Given the description of an element on the screen output the (x, y) to click on. 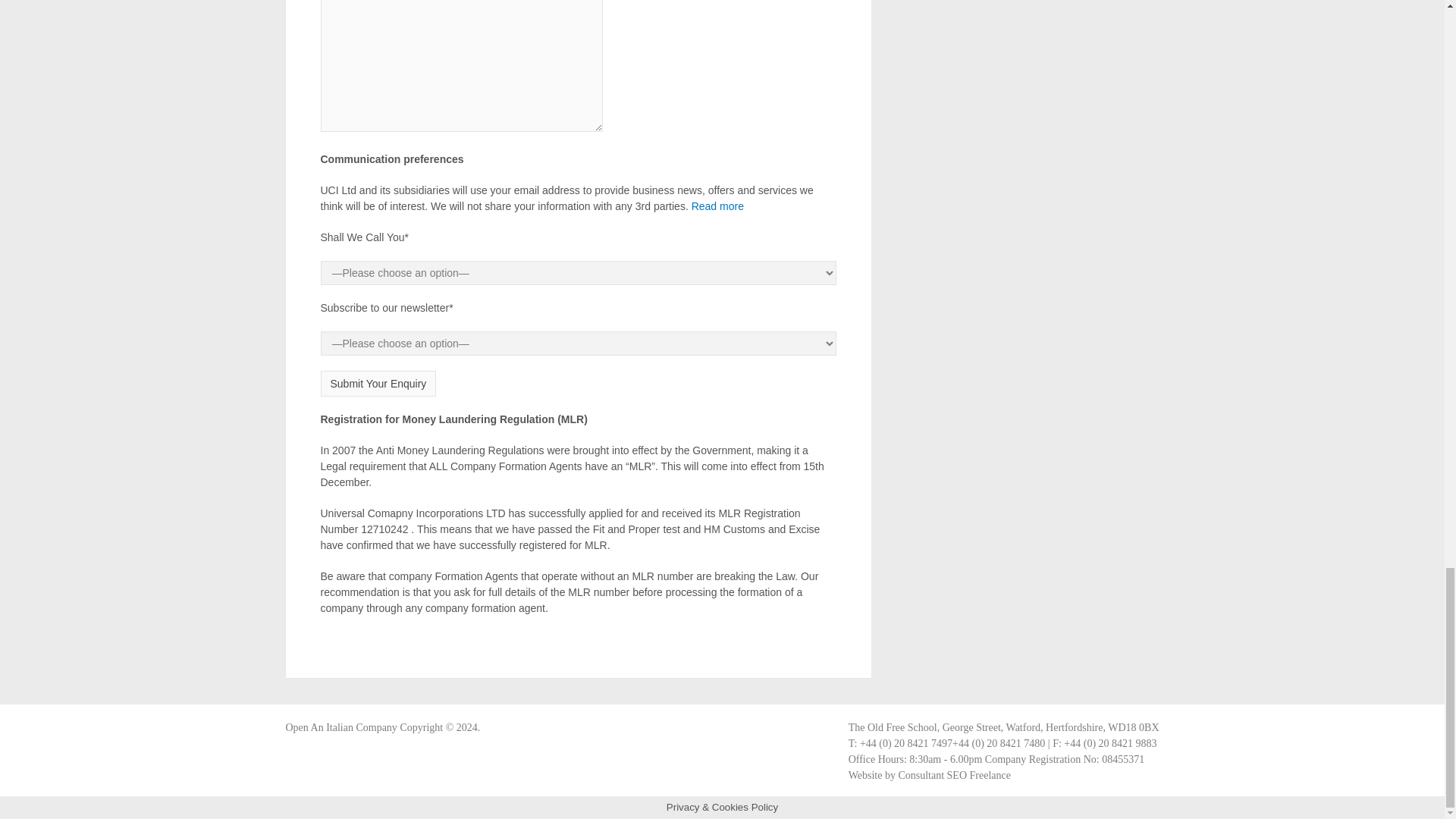
Open An Italian Company (340, 727)
Consultant SEO Freelance (954, 775)
Submit Your Enquiry (377, 383)
Read more (717, 205)
Submit Your Enquiry (377, 383)
Consultant SEO Freelance (954, 775)
